Given the description of an element on the screen output the (x, y) to click on. 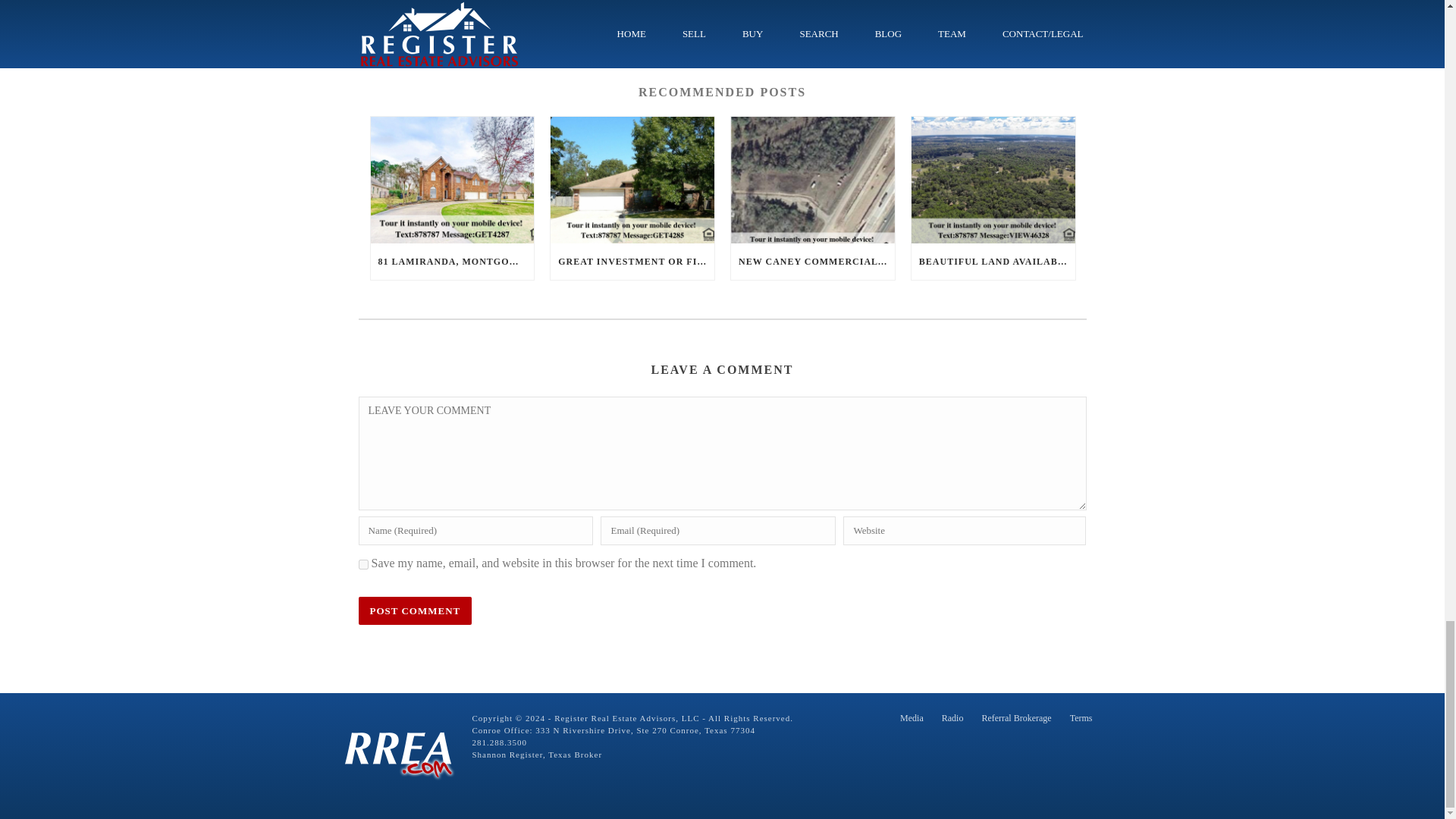
New Caney Commercial Investment Opportunity (812, 180)
yes (363, 564)
POST COMMENT (414, 610)
Follow me on Facebook (470, 27)
Get in touch with me via email (448, 27)
Beautiful Land Available in Willis, Texas (993, 180)
81 Lamiranda, Montgomery, Texas 77356 Just Listed (451, 180)
Follow me on Twitter (427, 27)
